Given the description of an element on the screen output the (x, y) to click on. 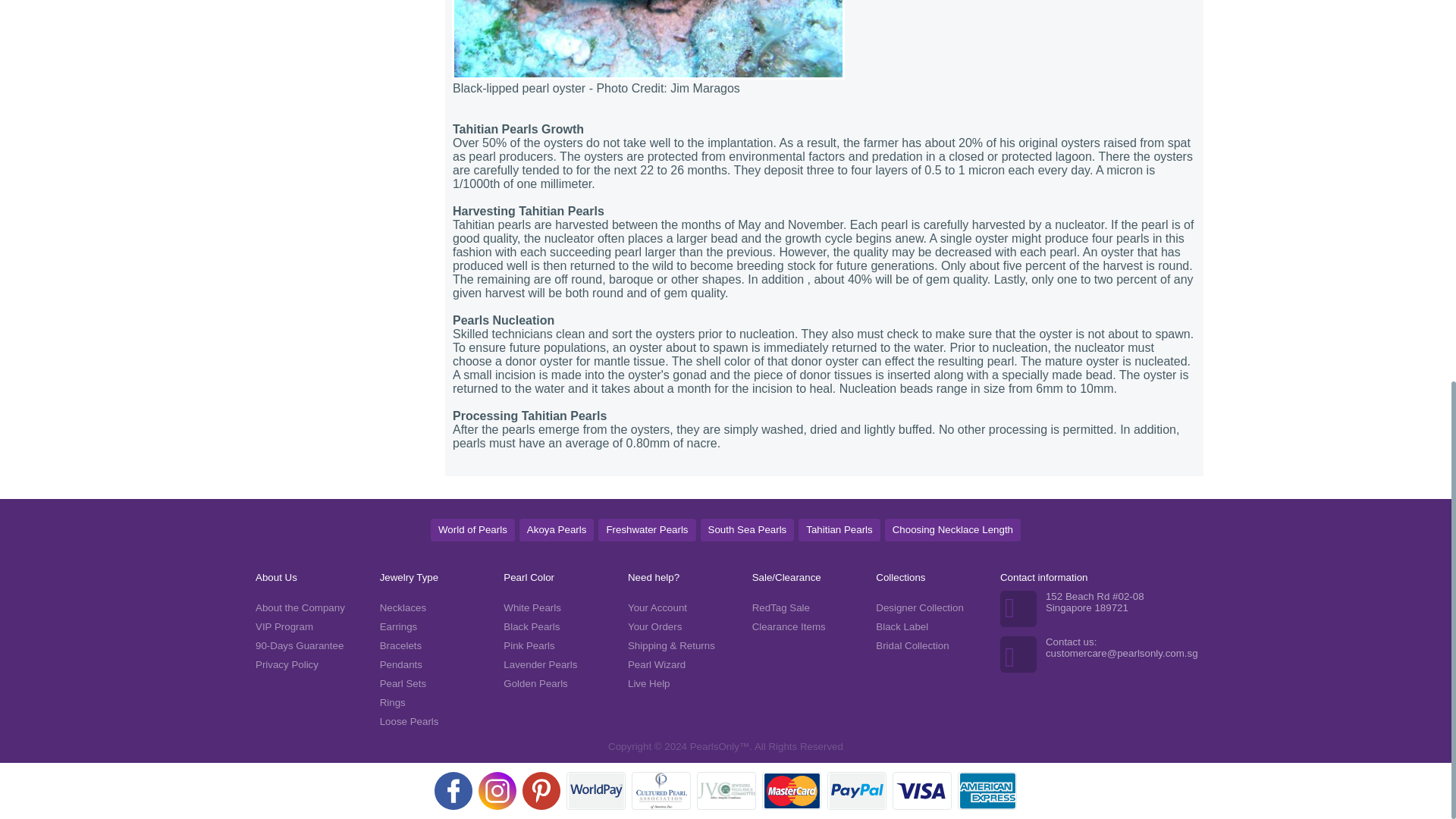
Facebook (453, 791)
Jewelers Vigilance Committee (726, 790)
Powered by WorldPay (596, 790)
Instagram (497, 791)
Visa (922, 790)
Partner Membership - Cultured Pearl Association of America (660, 790)
MasterCard (791, 790)
Pinterest (541, 791)
American Express (987, 790)
Pay with PayPal (856, 790)
